Given the description of an element on the screen output the (x, y) to click on. 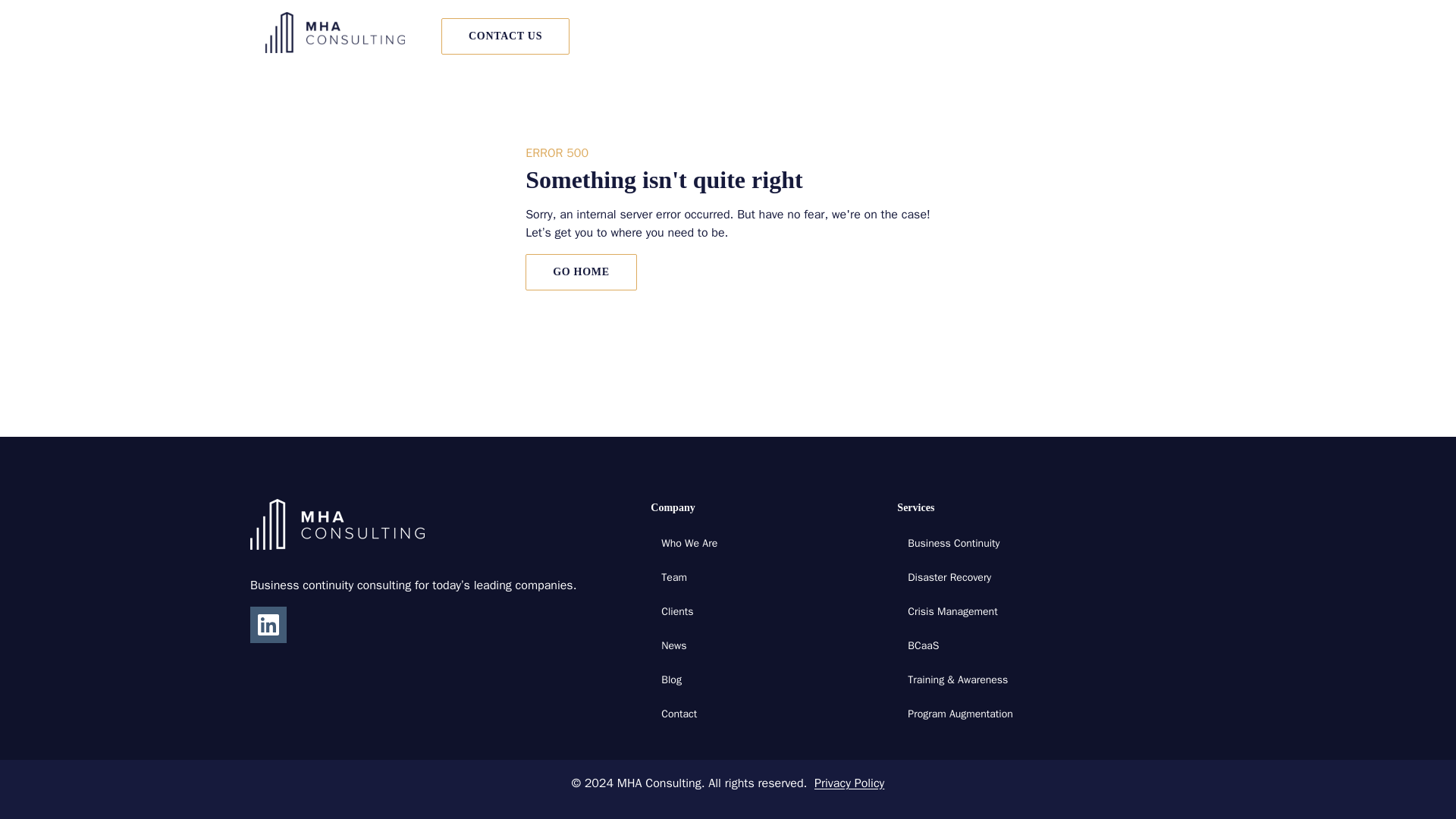
Privacy Policy (848, 783)
Crisis Management (952, 611)
BCaaS (923, 645)
News (673, 645)
Team (674, 576)
Disaster Recovery (949, 576)
CONTACT US (505, 36)
Contact (679, 713)
GO HOME (581, 271)
Blog (671, 679)
